Given the description of an element on the screen output the (x, y) to click on. 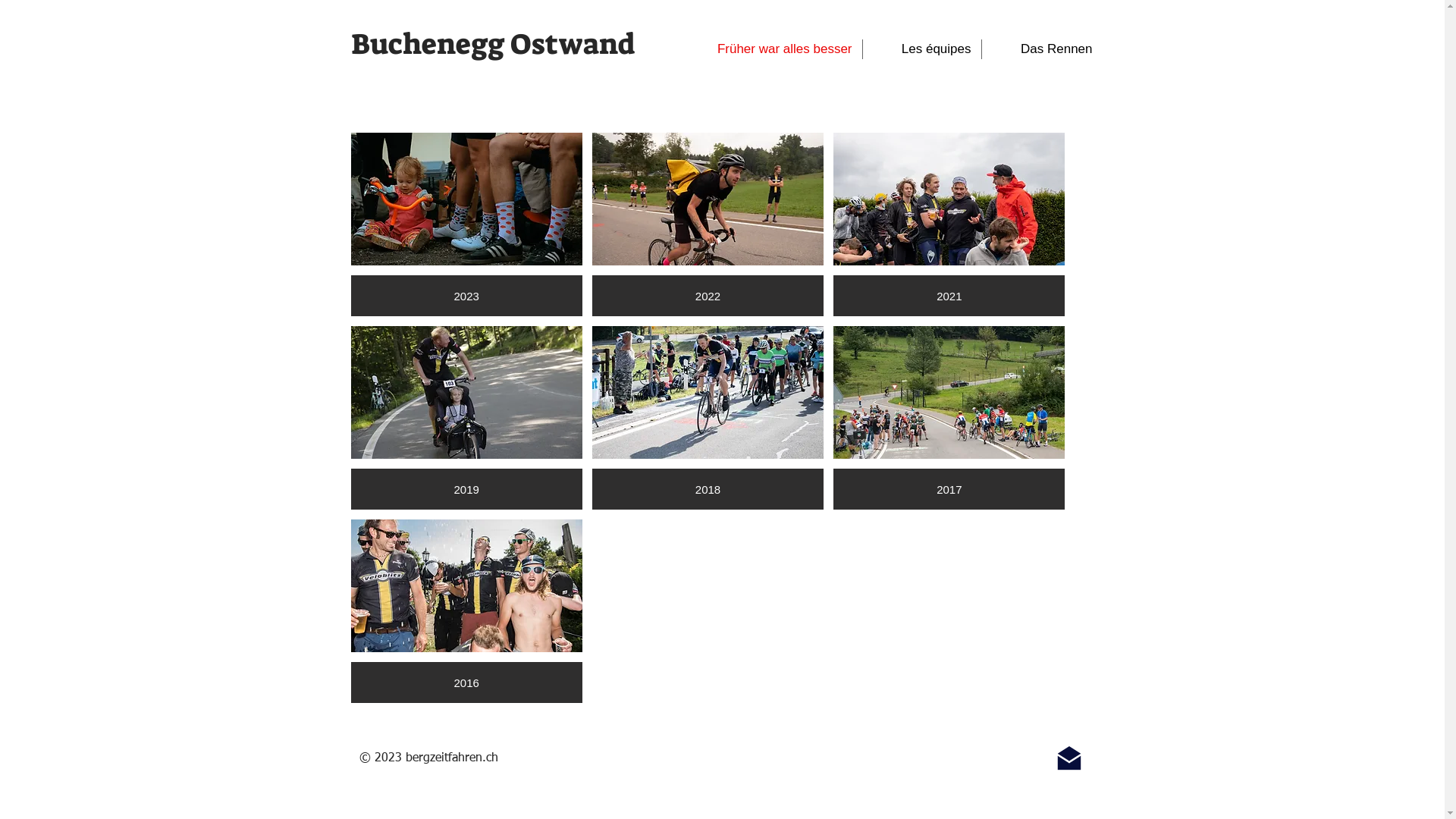
Das Rennen Element type: text (1041, 49)
2022 Element type: text (707, 224)
2023 Element type: text (465, 224)
Buchenegg Ostwand Element type: text (491, 43)
2016 Element type: text (465, 610)
2018 Element type: text (707, 417)
2019 Element type: text (465, 417)
2021 Element type: text (948, 224)
2017 Element type: text (948, 417)
